Given the description of an element on the screen output the (x, y) to click on. 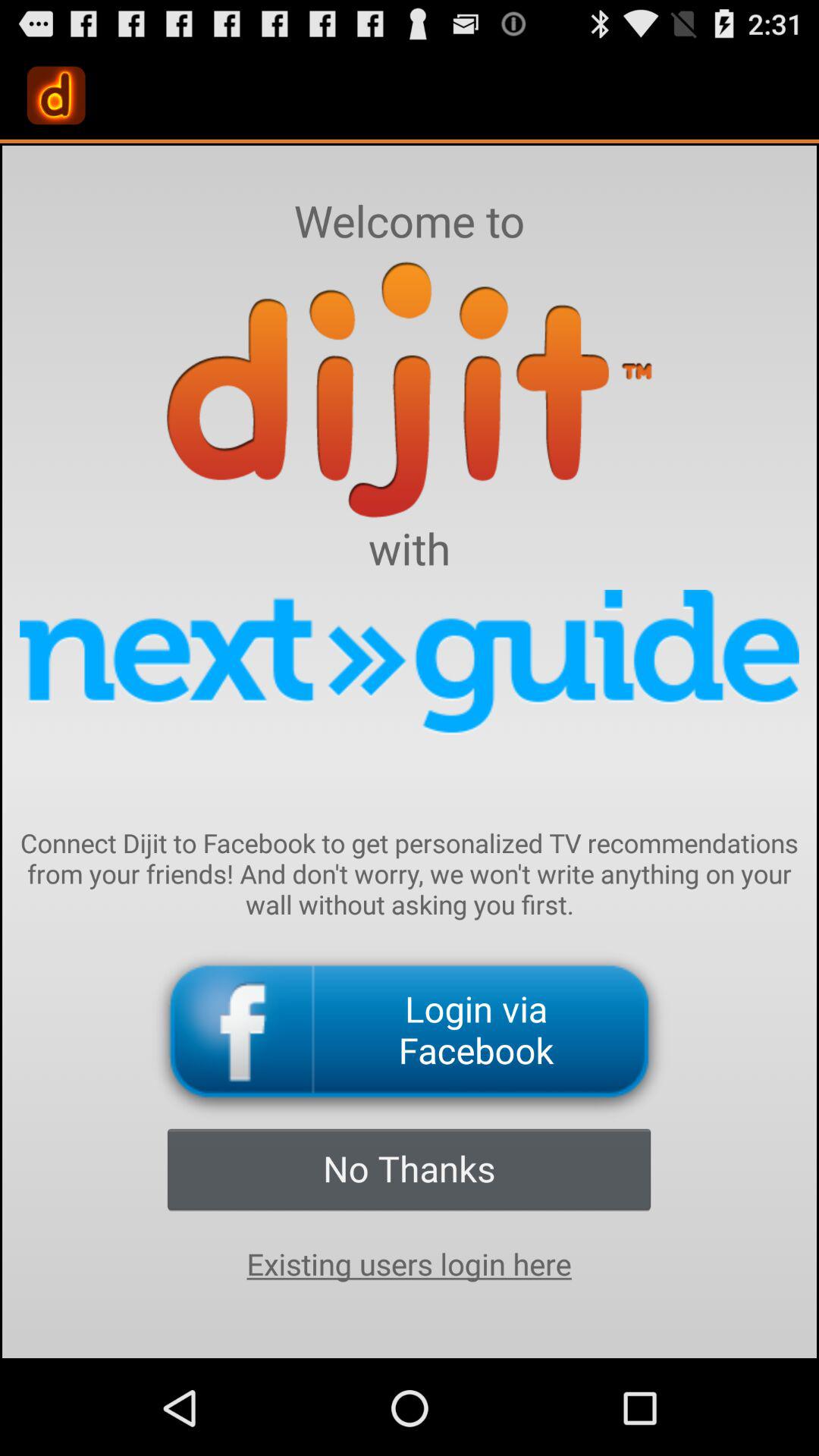
turn on item above no thanks (409, 1031)
